Given the description of an element on the screen output the (x, y) to click on. 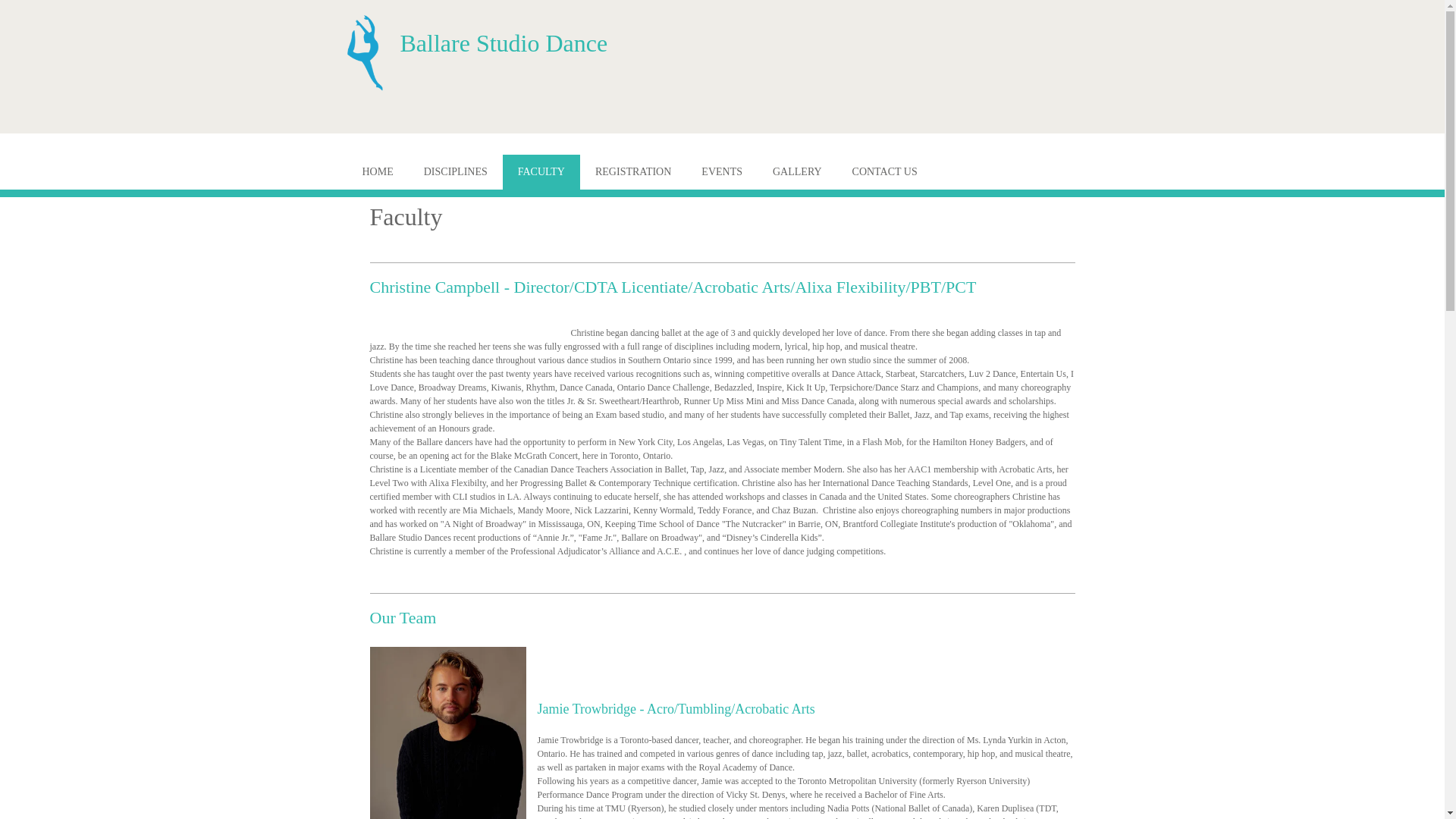
GALLERY Element type: text (797, 171)
HOME Element type: text (377, 171)
REGISTRATION Element type: text (633, 171)
Go to site home page Element type: hover (364, 53)
Go to site home page Element type: hover (366, 53)
DISCIPLINES Element type: text (455, 171)
EVENTS Element type: text (721, 171)
FACULTY Element type: text (541, 171)
CONTACT US Element type: text (884, 171)
